Given the description of an element on the screen output the (x, y) to click on. 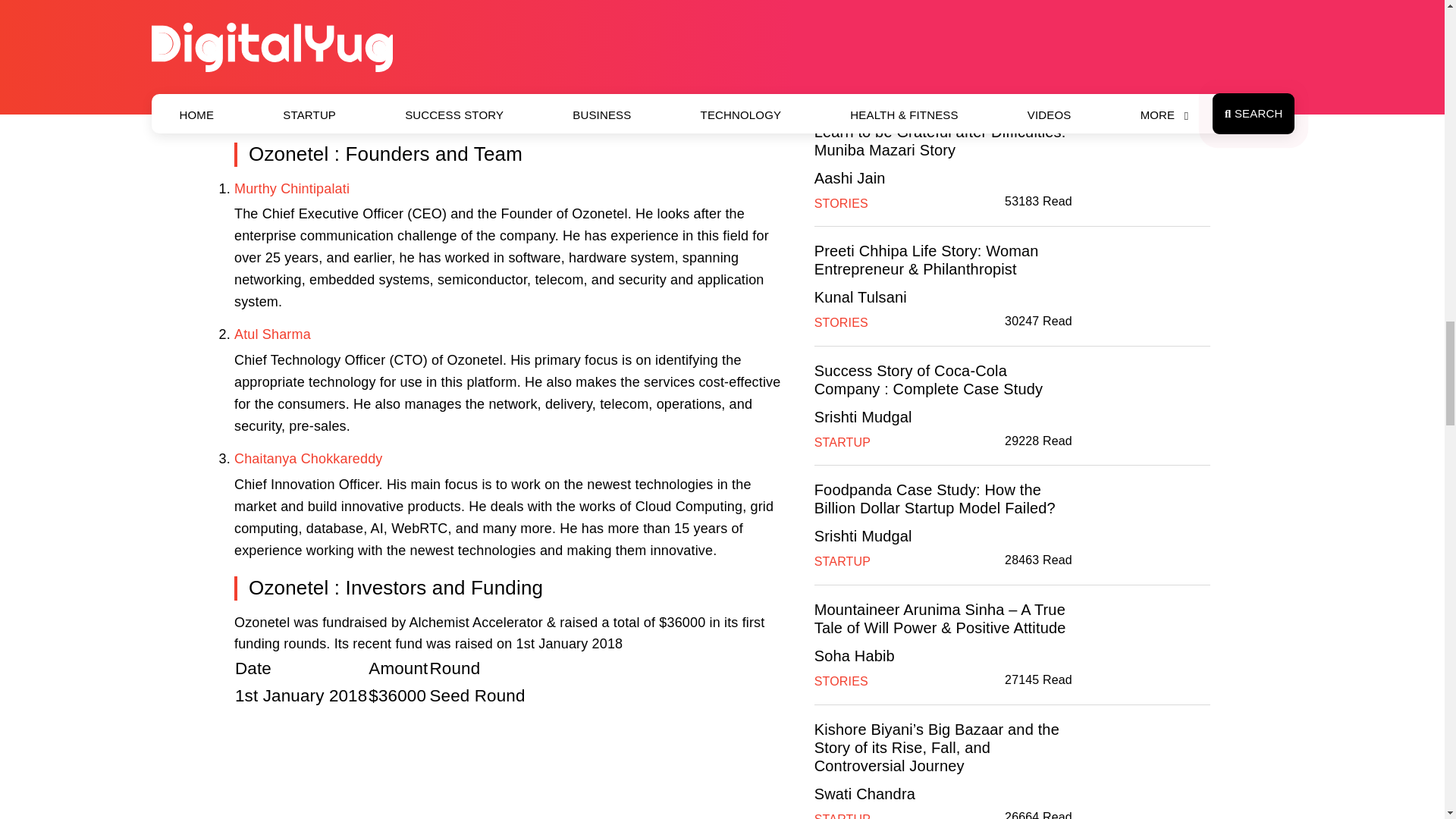
Ozonetel (515, 764)
